Given the description of an element on the screen output the (x, y) to click on. 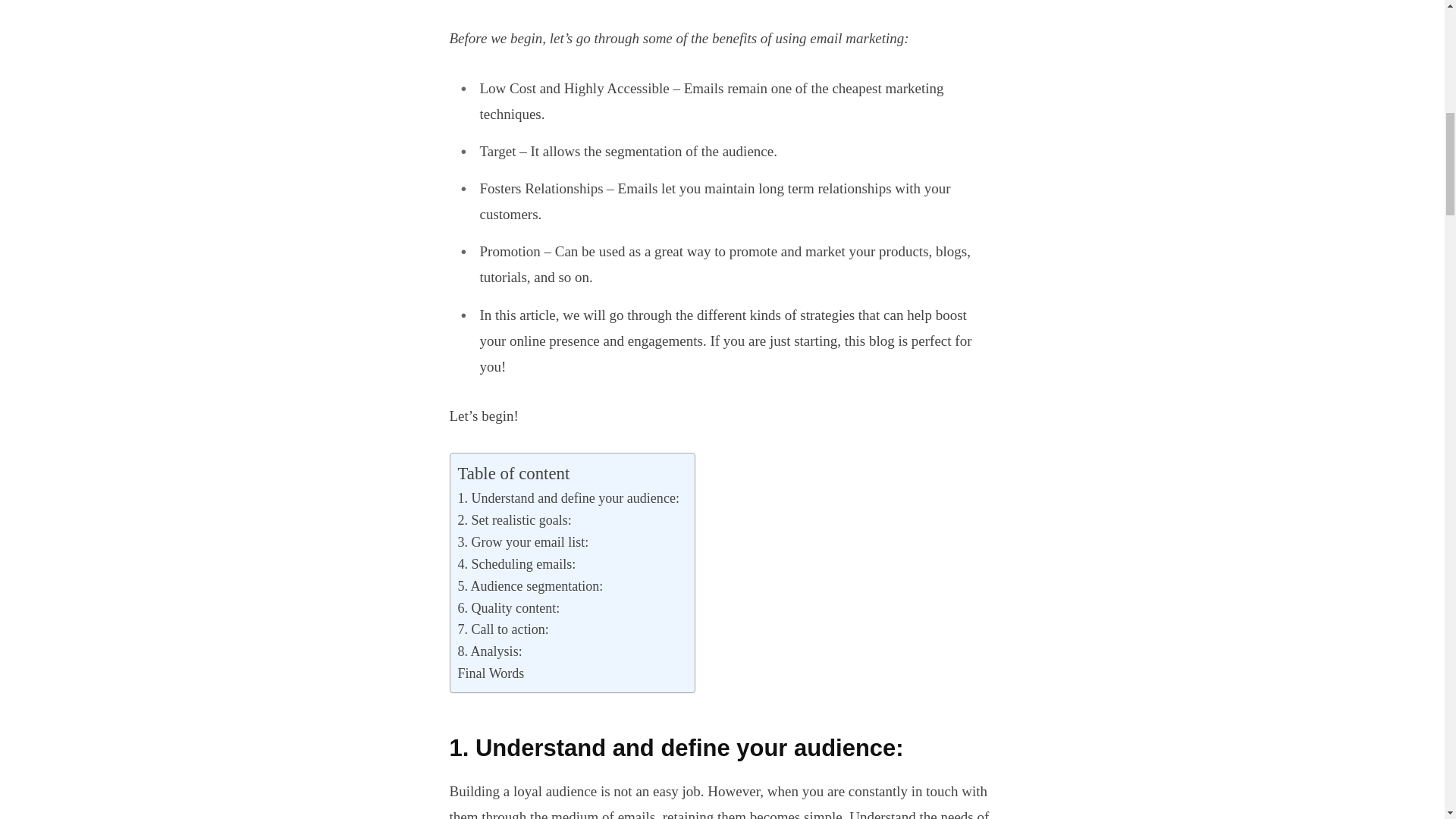
6. Quality content: (509, 608)
Final Words (491, 673)
7. Call to action: (503, 629)
1. Understand and define your audience: (568, 498)
5. Audience segmentation: (531, 586)
4. Scheduling emails: (517, 564)
3. Grow your email list: (523, 542)
8. Analysis: (490, 651)
2. Set realistic goals: (515, 520)
